Given the description of an element on the screen output the (x, y) to click on. 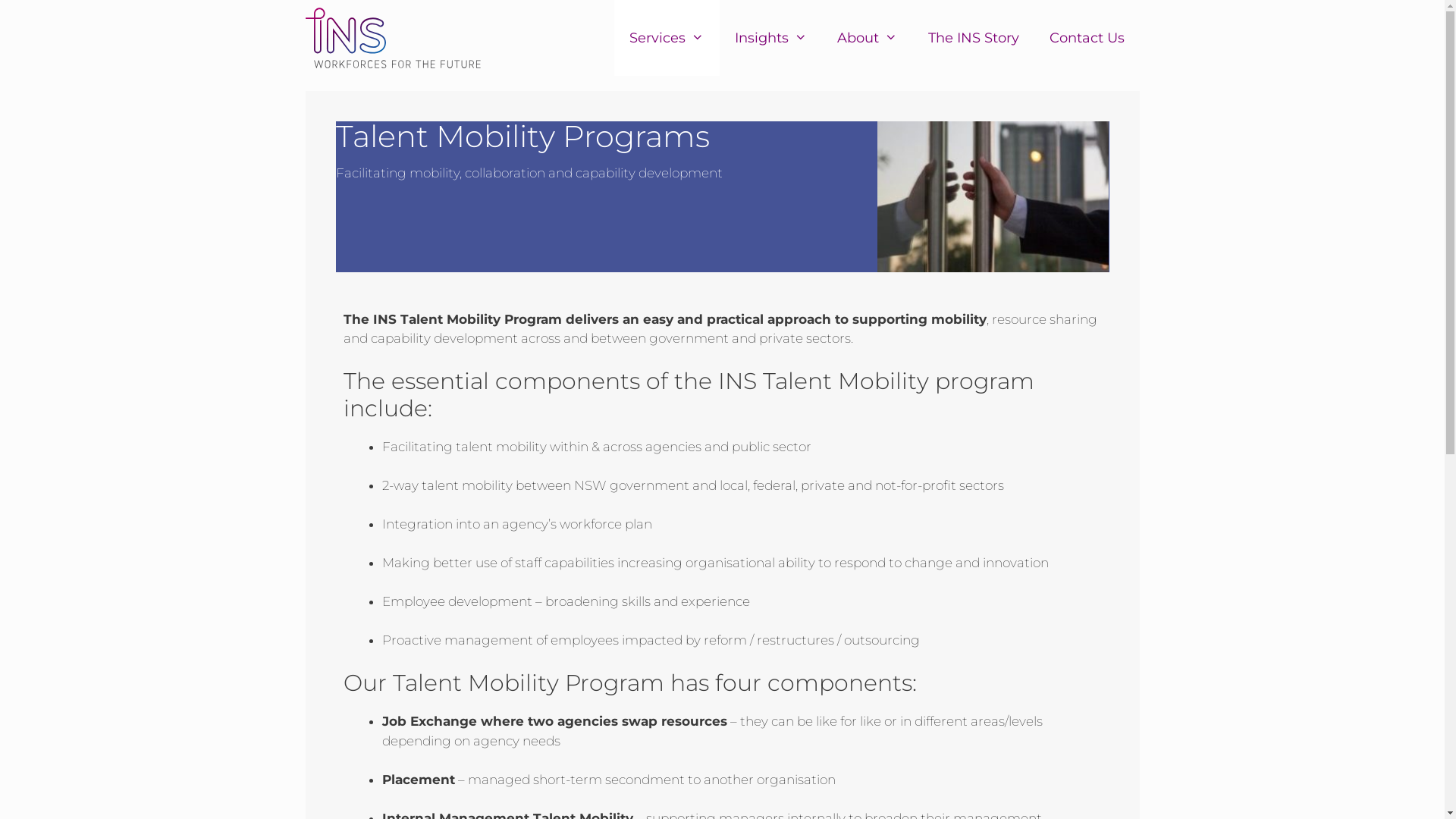
The INS Story Element type: text (973, 37)
About Element type: text (867, 37)
Insights Element type: text (770, 37)
Contact Us Element type: text (1086, 37)
Services Element type: text (666, 37)
INS Element type: hover (396, 37)
INS Element type: hover (392, 37)
